Given the description of an element on the screen output the (x, y) to click on. 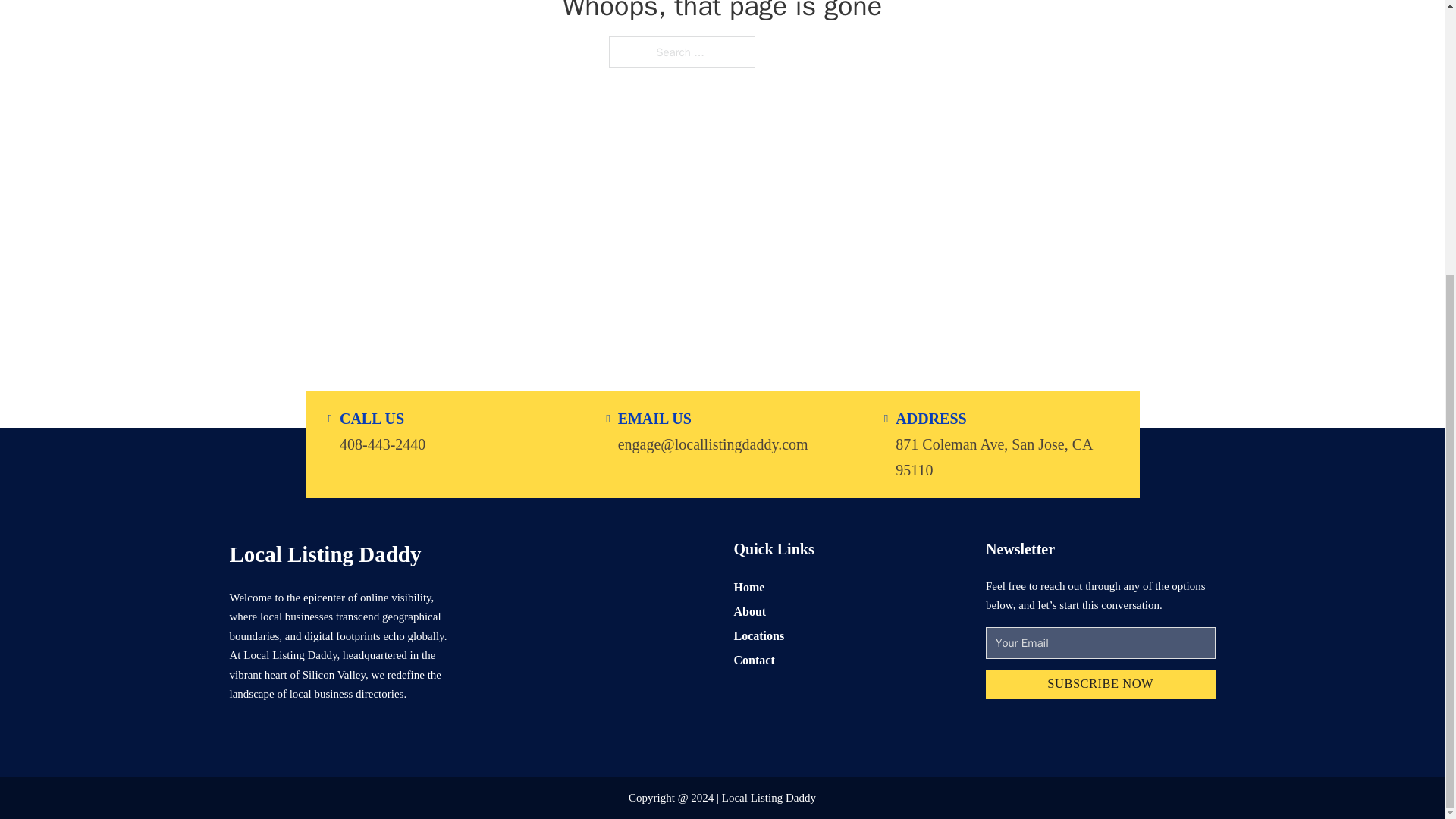
SUBSCRIBE NOW (1100, 685)
About (750, 611)
Locations (758, 635)
Home (749, 586)
Contact (753, 660)
408-443-2440 (382, 443)
Local Listing Daddy (324, 553)
